Given the description of an element on the screen output the (x, y) to click on. 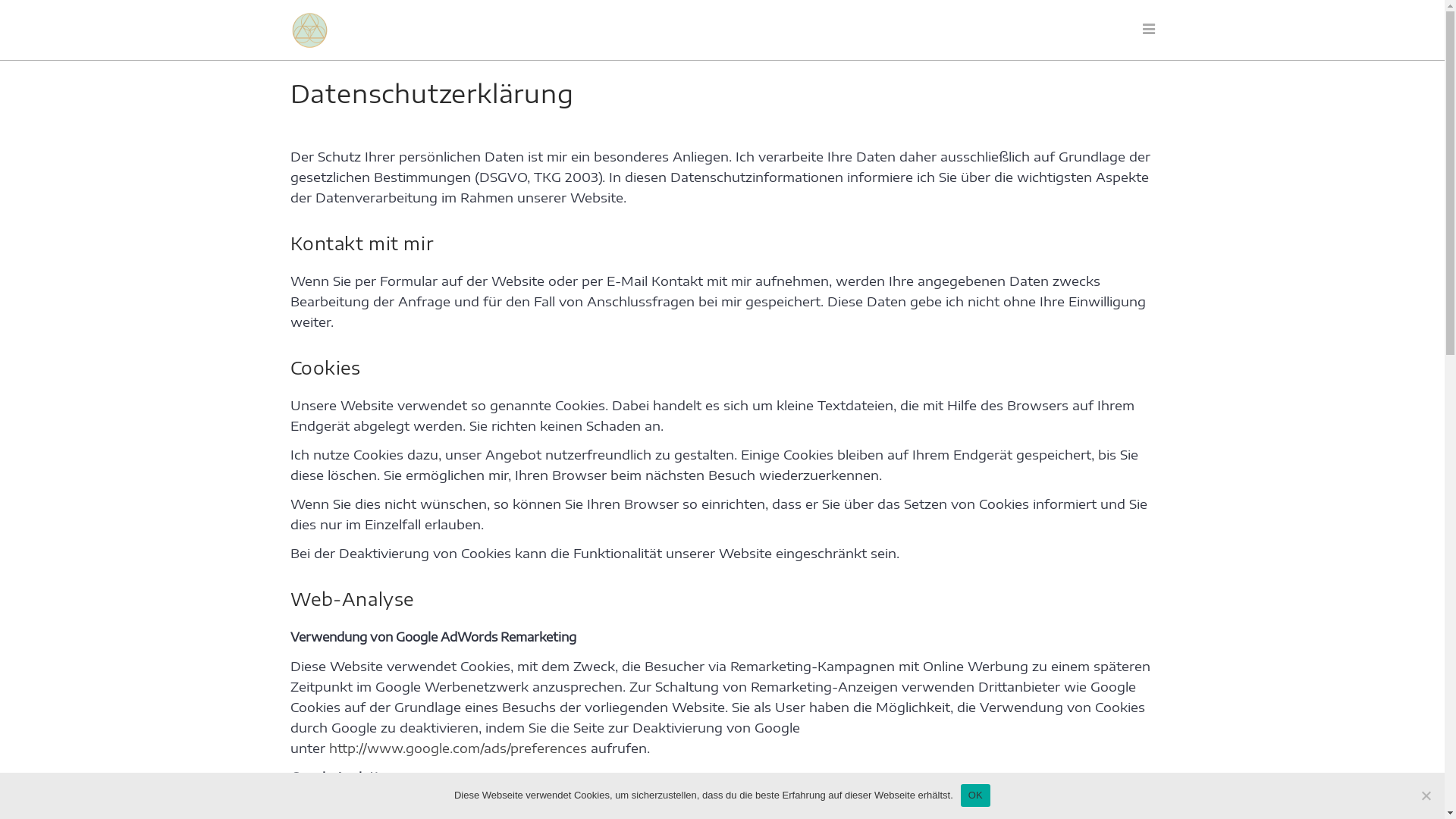
http://www.google.com/ads/preferences Element type: text (457, 747)
Nein Element type: hover (1425, 795)
OK Element type: text (975, 795)
